Given the description of an element on the screen output the (x, y) to click on. 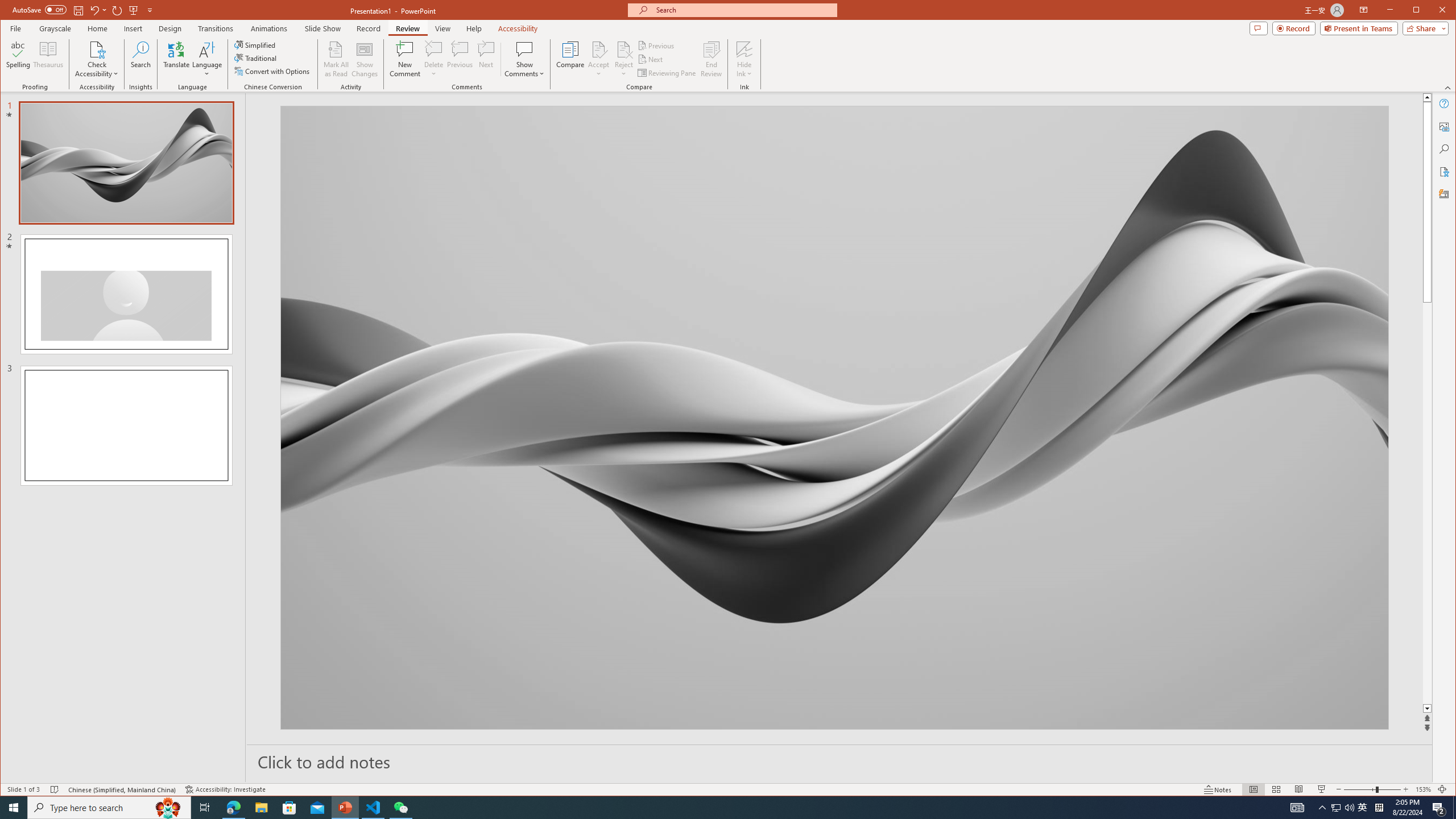
Thesaurus... (48, 59)
Convert with Options... (272, 70)
Wavy 3D art (835, 417)
Traditional (256, 57)
